Given the description of an element on the screen output the (x, y) to click on. 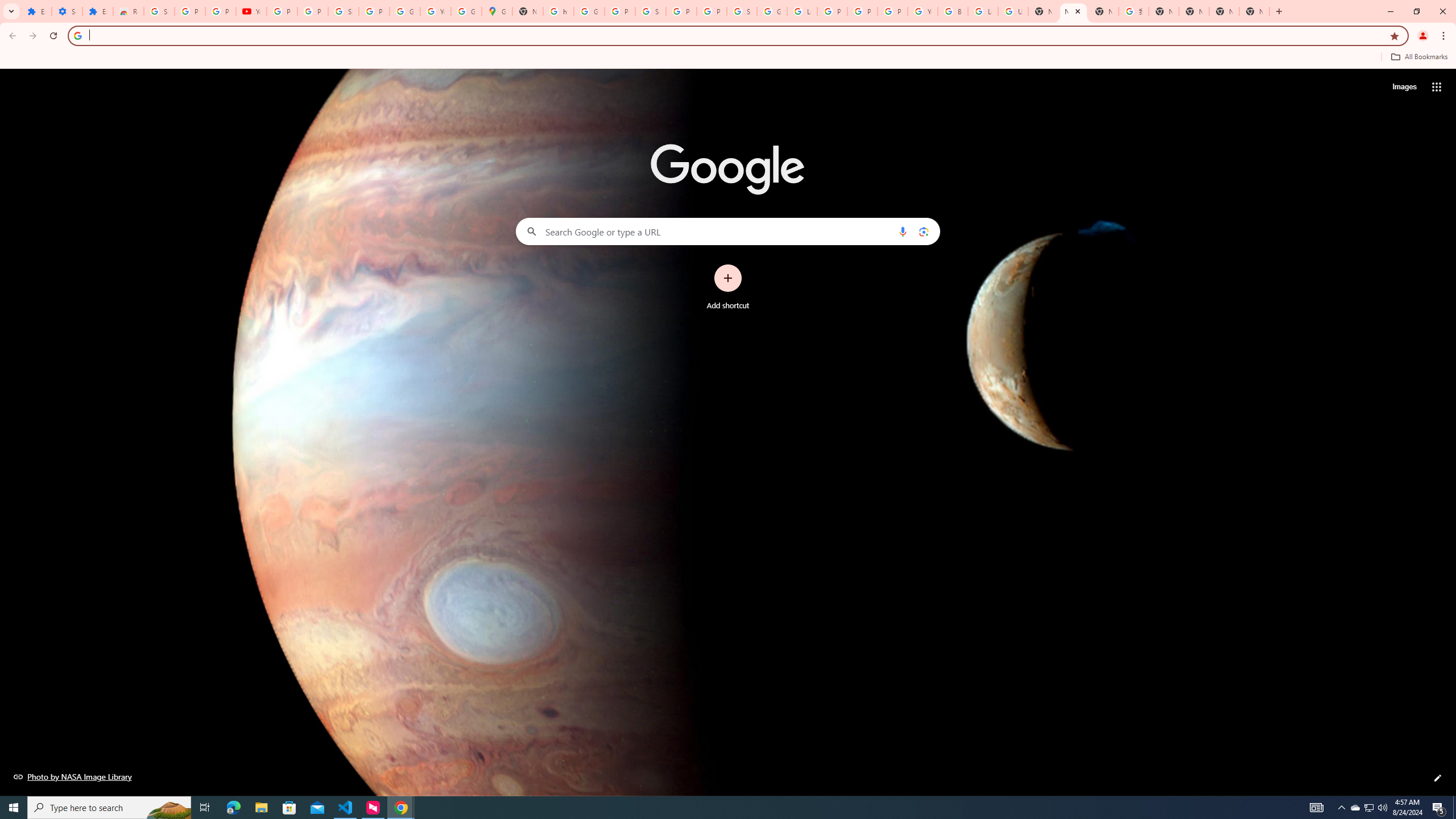
New Tab (1254, 11)
Privacy Help Center - Policies Help (832, 11)
Sign in - Google Accounts (650, 11)
https://scholar.google.com/ (558, 11)
Privacy Help Center - Policies Help (862, 11)
Add shortcut (727, 287)
Sign in - Google Accounts (741, 11)
